Given the description of an element on the screen output the (x, y) to click on. 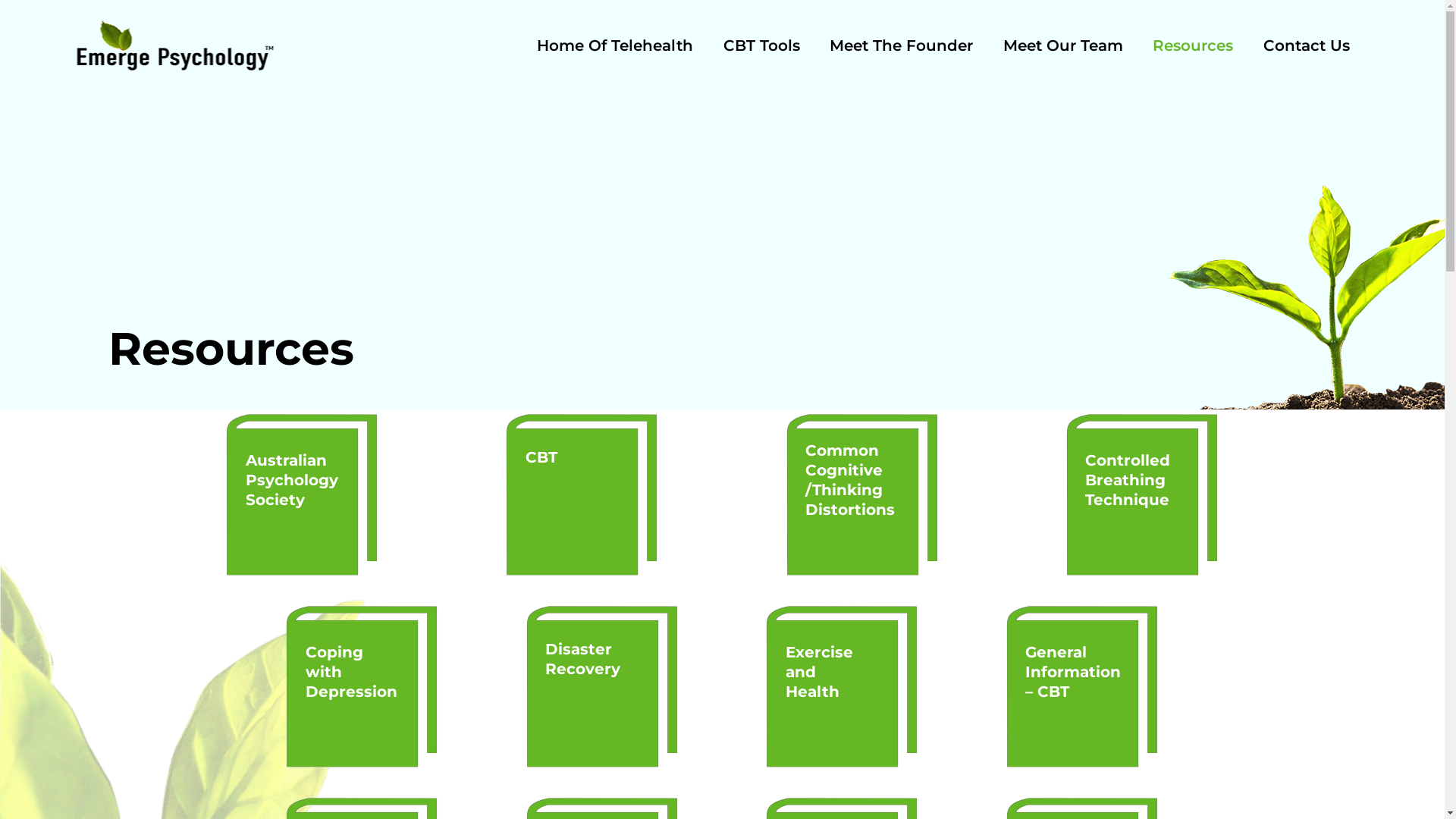
logo Element type: hover (174, 45)
green_book Element type: hover (862, 494)
Resources Element type: text (1192, 48)
Home Of Telehealth Element type: text (614, 48)
green_book Element type: hover (361, 686)
green_book Element type: hover (301, 494)
CBT Tools Element type: text (761, 48)
green_book Element type: hover (1142, 494)
Meet Our Team Element type: text (1063, 48)
green_book Element type: hover (602, 686)
green_book Element type: hover (581, 494)
Contact Us Element type: text (1306, 48)
green_book Element type: hover (1082, 686)
green_book Element type: hover (841, 686)
Meet The Founder Element type: text (900, 48)
